Given the description of an element on the screen output the (x, y) to click on. 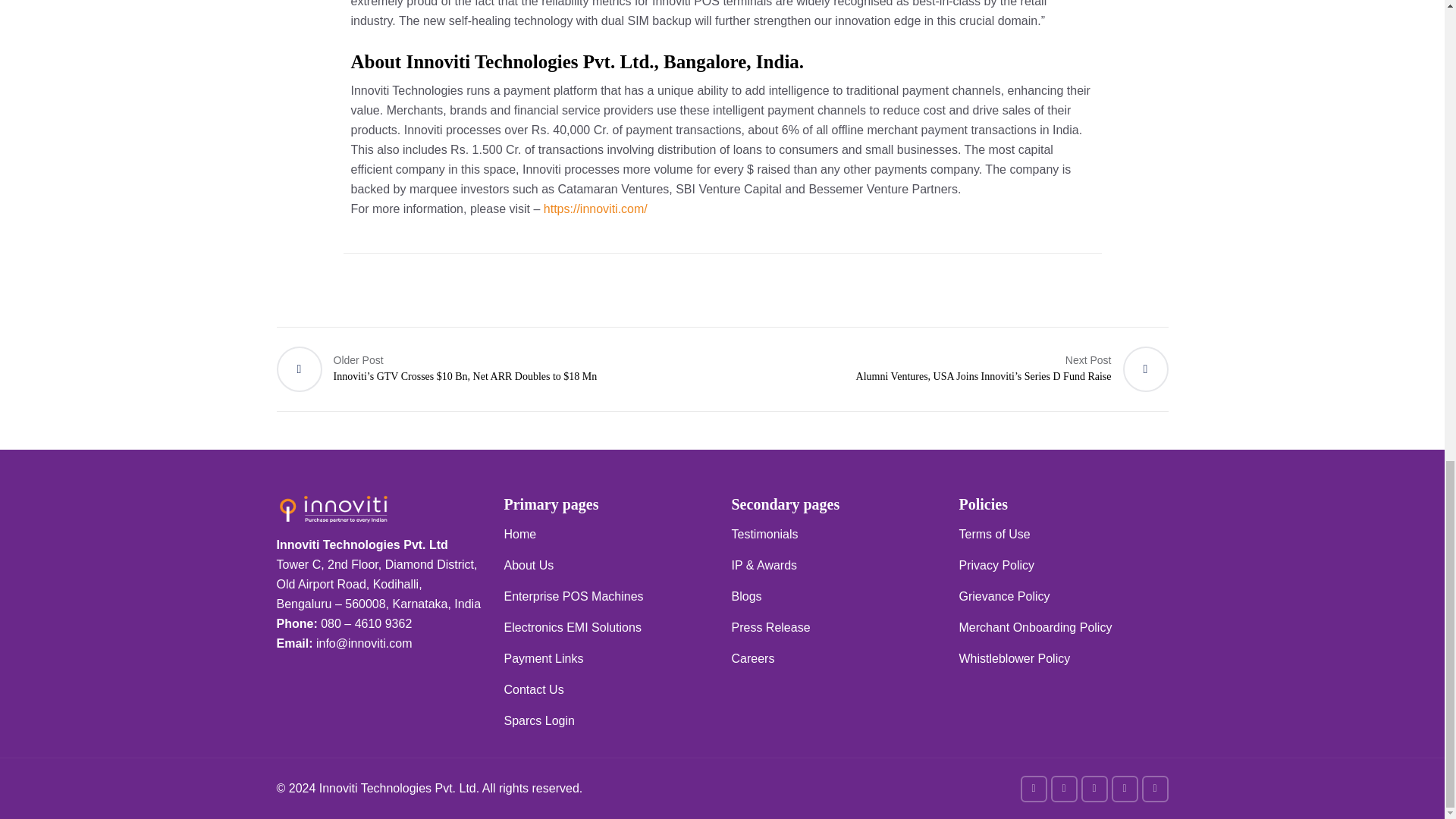
Careers (752, 658)
Payment Links (543, 658)
Testimonials (763, 533)
About Us (528, 564)
Electronics EMI Solutions (571, 626)
Blogs (745, 595)
Grievance Policy (1003, 595)
Home (519, 533)
Press Release (769, 626)
Privacy Policy (995, 564)
Merchant Onboarding Policy (1035, 626)
Enterprise POS Machines (573, 595)
Terms of Use (993, 533)
Sparcs Login (538, 720)
Contact (523, 689)
